Given the description of an element on the screen output the (x, y) to click on. 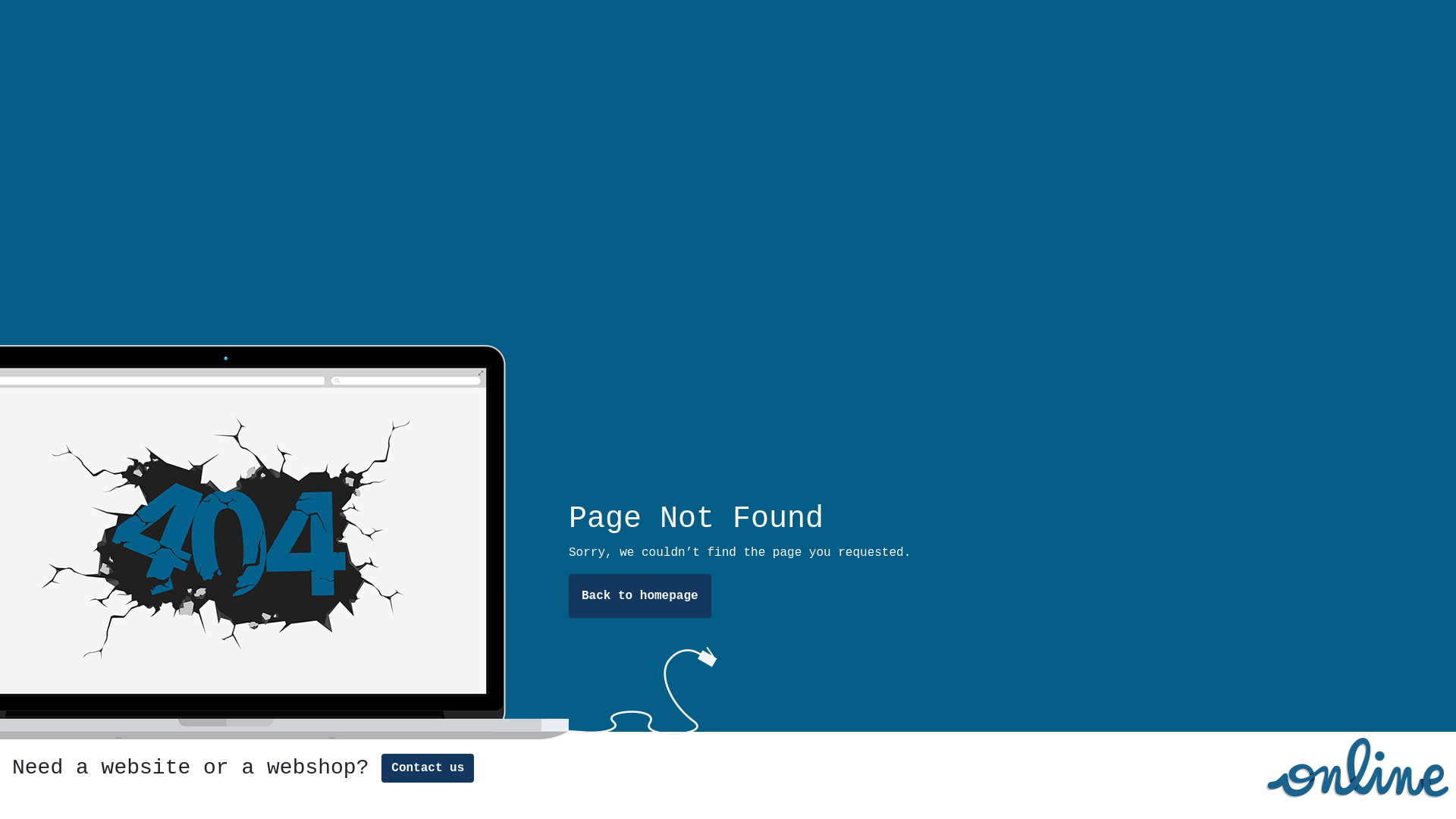
Contact us Element type: text (427, 767)
Back to homepage Element type: text (639, 596)
